Given the description of an element on the screen output the (x, y) to click on. 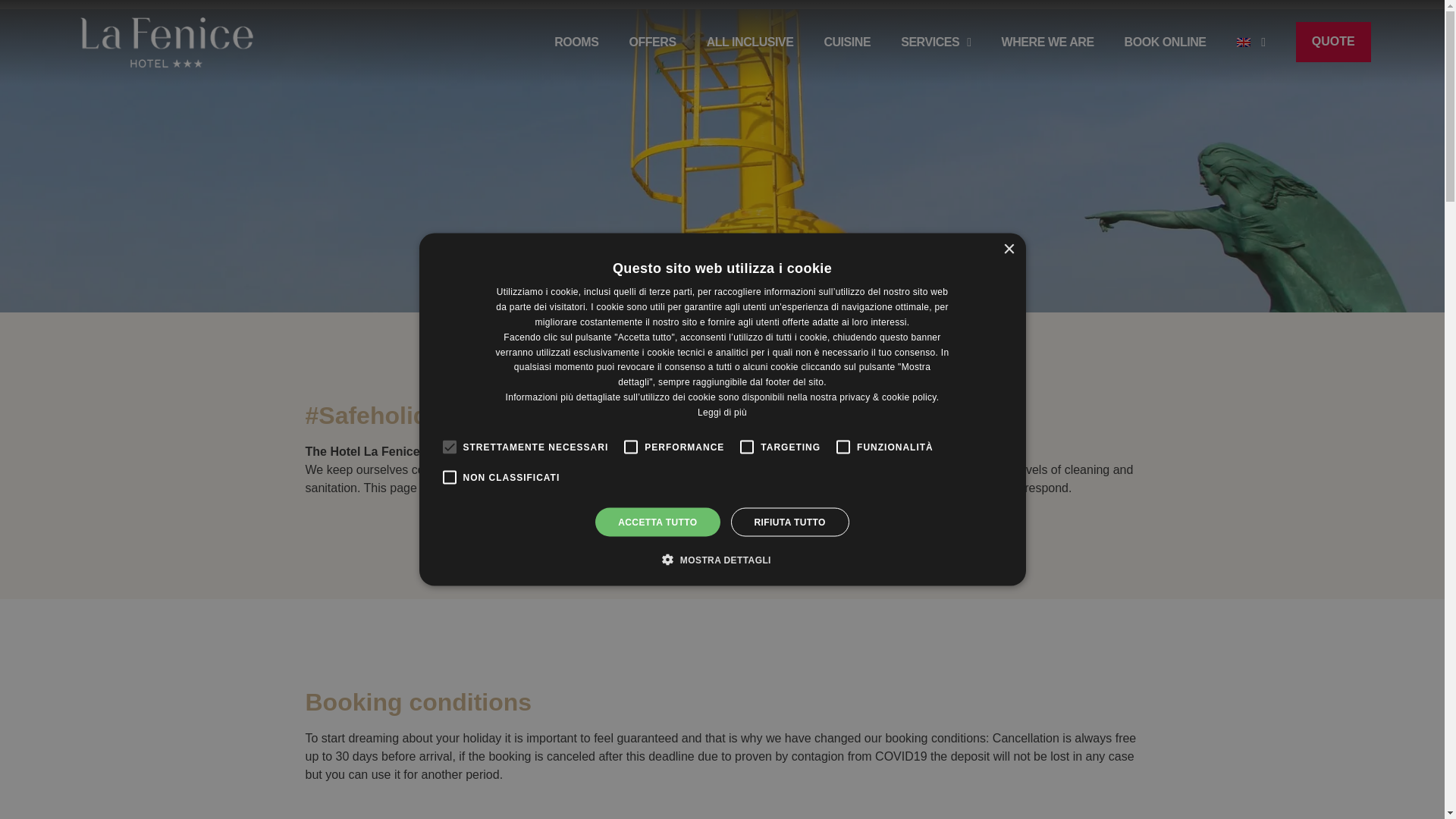
SERVICES (936, 42)
WHERE WE ARE (1047, 42)
OFFERS (651, 42)
CUISINE (847, 42)
ROOMS (576, 42)
BOOK ONLINE (1165, 42)
QUOTE (1333, 42)
ALL INCLUSIVE (749, 42)
